Given the description of an element on the screen output the (x, y) to click on. 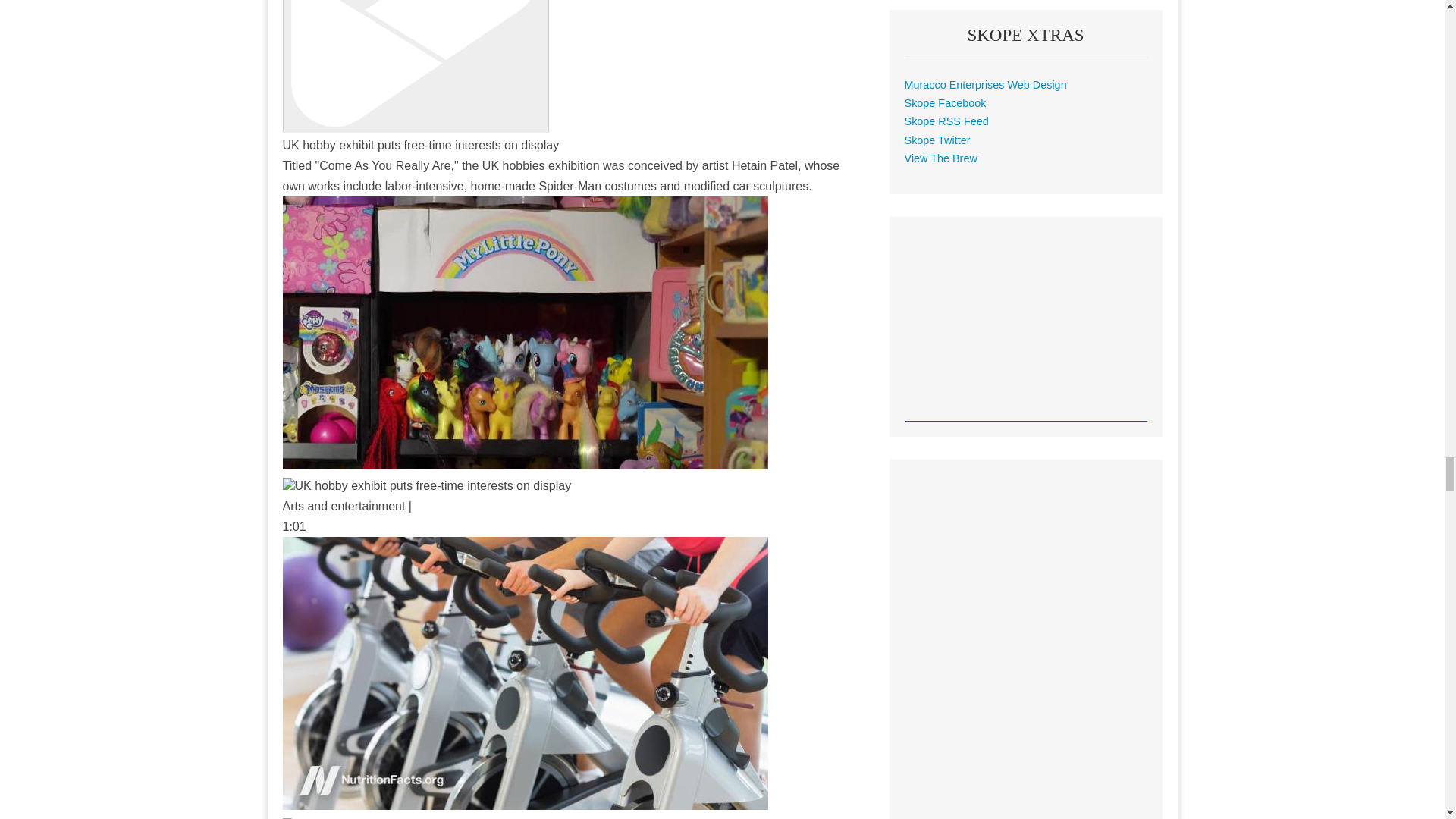
Skopemag.com RSS Feed (946, 121)
